Given the description of an element on the screen output the (x, y) to click on. 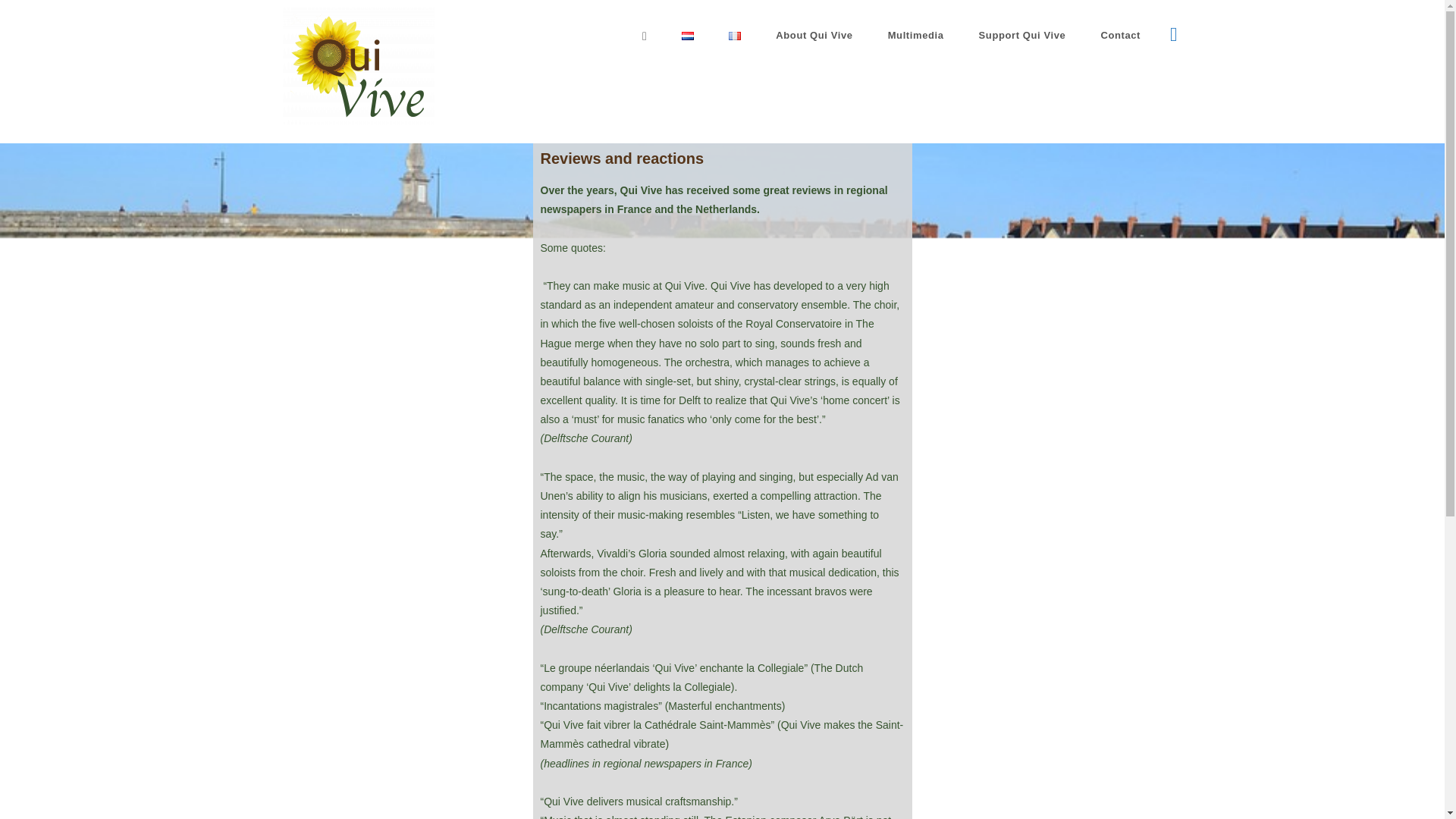
Support Qui Vive (1021, 35)
About Qui Vive (813, 35)
Contact (1120, 35)
Multimedia (915, 35)
